Given the description of an element on the screen output the (x, y) to click on. 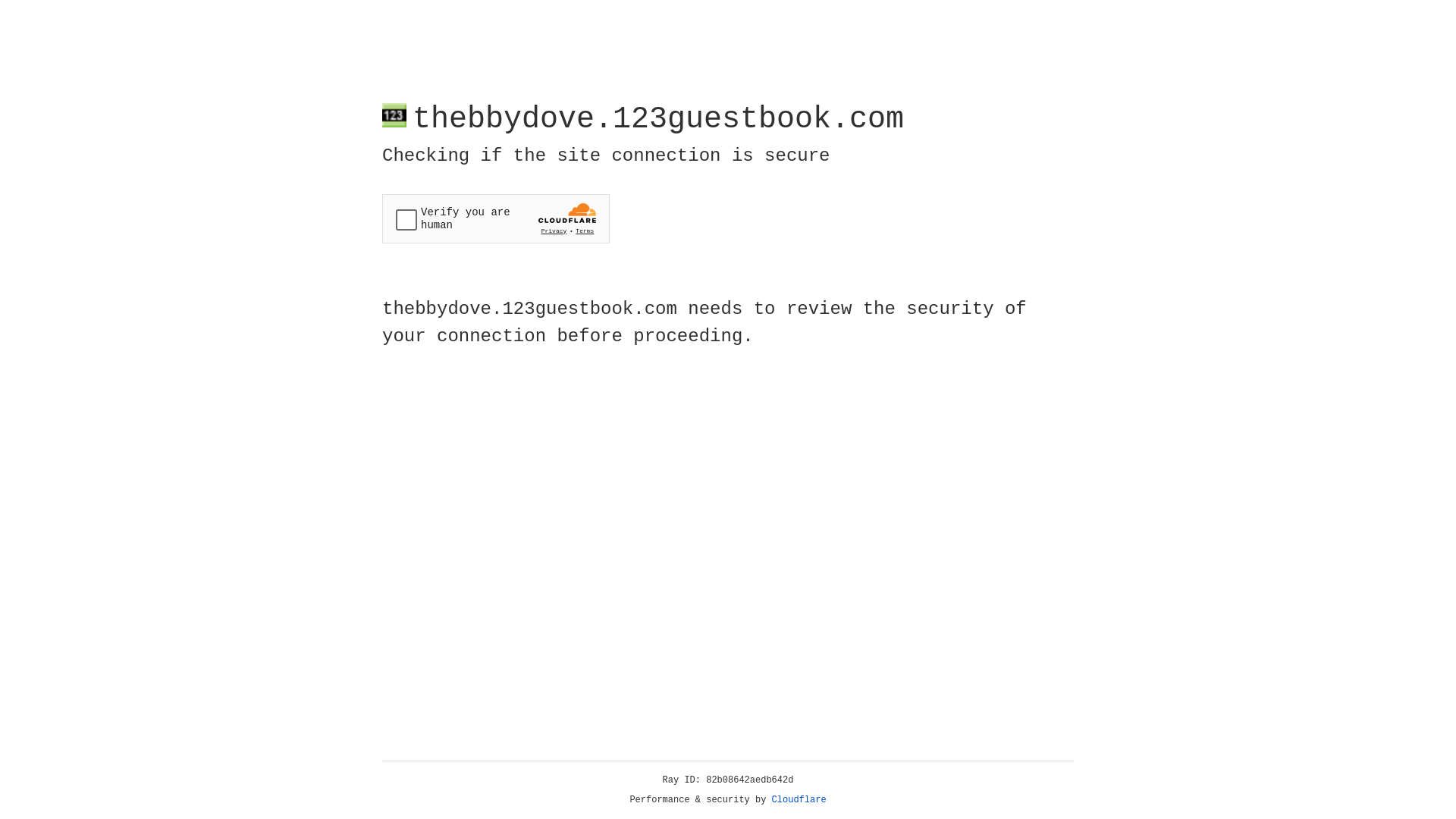
Widget containing a Cloudflare security challenge Element type: hover (495, 218)
Cloudflare Element type: text (798, 799)
